Given the description of an element on the screen output the (x, y) to click on. 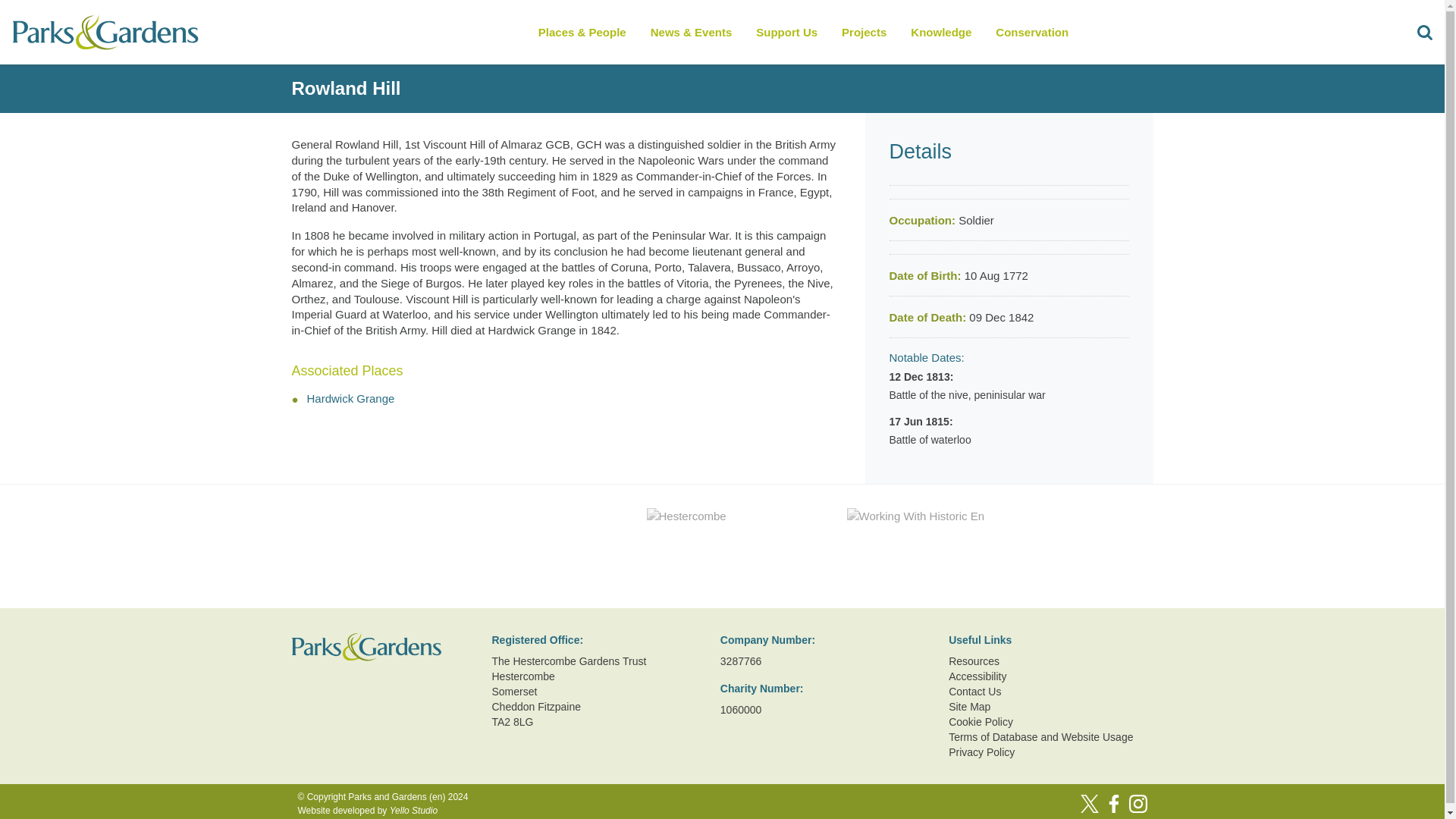
Knowledge (940, 32)
Resources (1051, 661)
Designed and developed by Yello Studio (382, 810)
Privacy Policy (1051, 752)
Site Map (1051, 706)
Contact Us (1051, 691)
Accessibility (1051, 676)
Conservation (1032, 32)
Support Us (786, 32)
Hardwick Grange (349, 398)
